Given the description of an element on the screen output the (x, y) to click on. 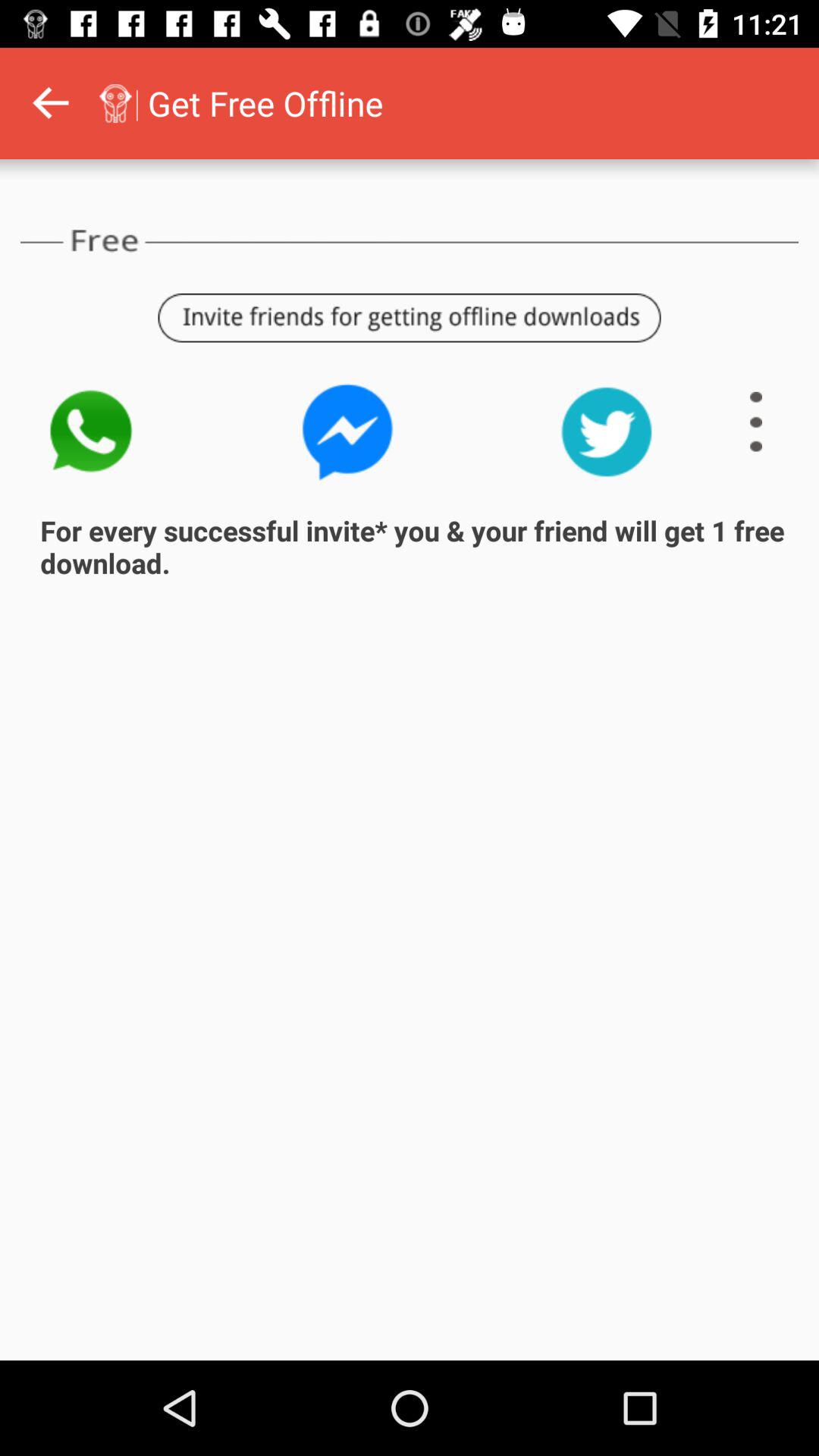
twitter (606, 431)
